Given the description of an element on the screen output the (x, y) to click on. 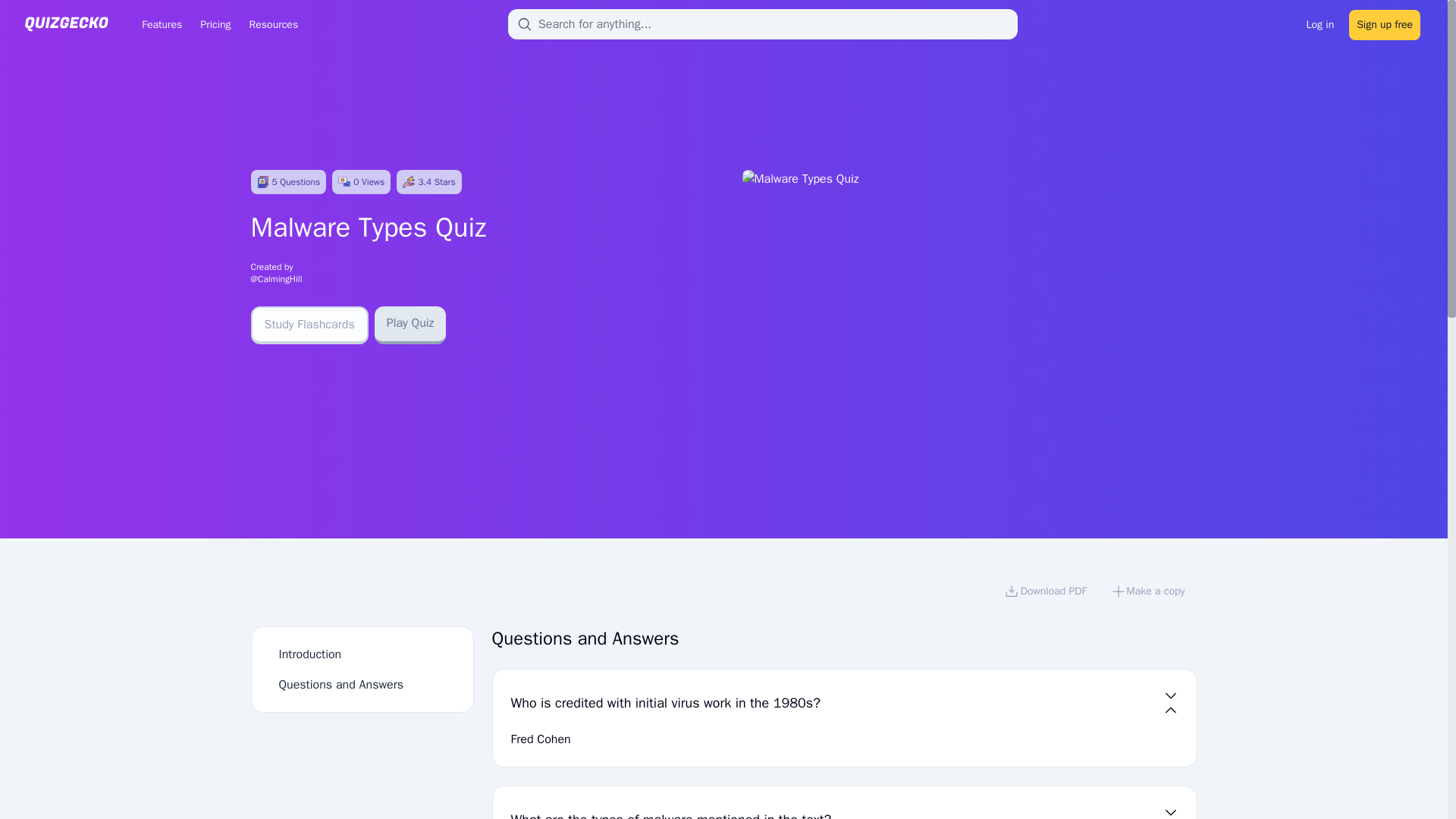
Download PDF (1045, 593)
Introduction (310, 654)
Sign up free (1384, 23)
Log in (1320, 23)
Features (161, 23)
Play Quiz (410, 324)
Study Flashcards (309, 324)
Pricing (214, 23)
Make a copy (1147, 593)
Questions and Answers (341, 684)
Resources (273, 23)
